Given the description of an element on the screen output the (x, y) to click on. 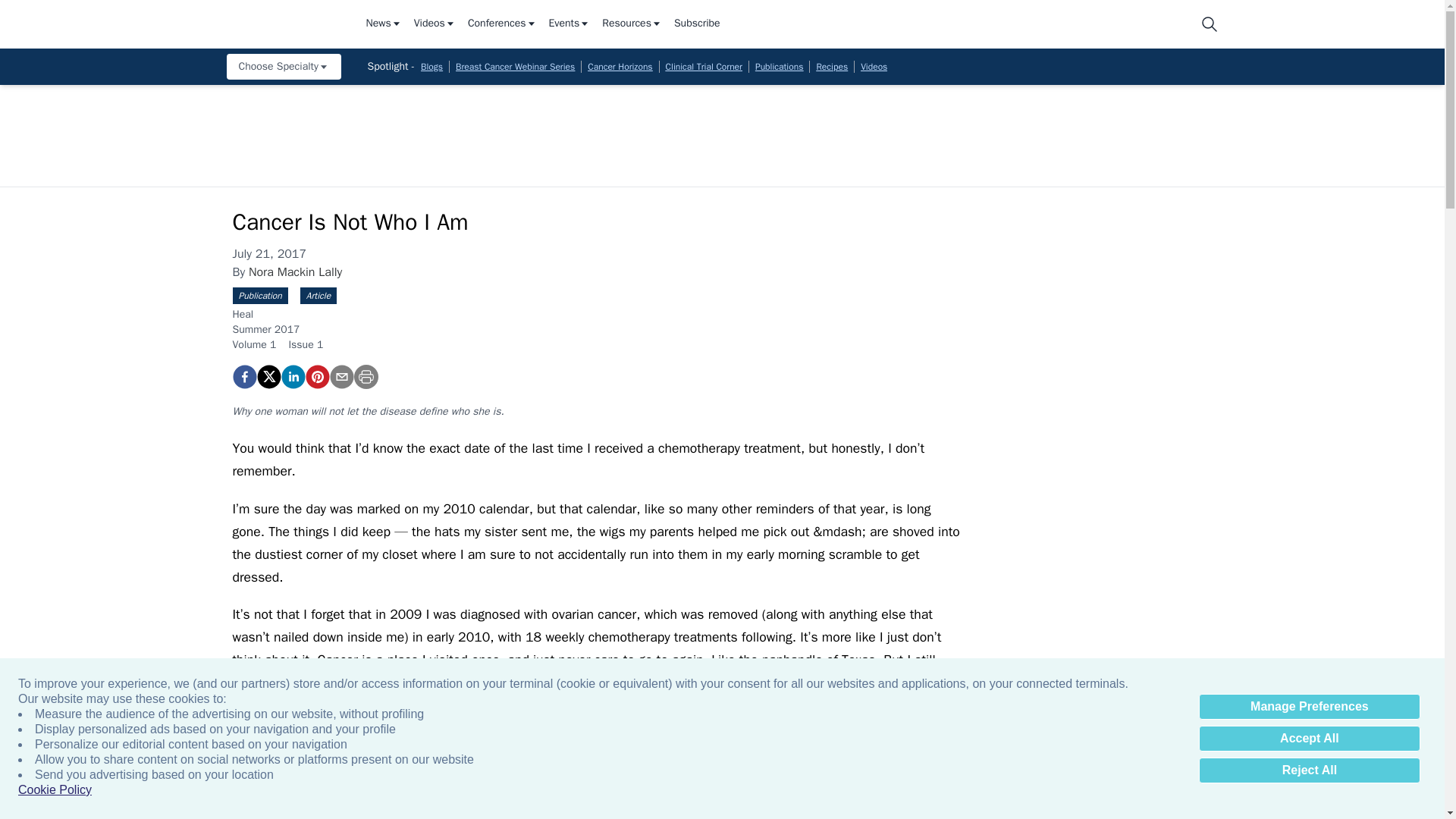
Cancer Is Not Who I Am (316, 376)
Videos (434, 23)
Events (569, 23)
Manage Preferences (1309, 706)
Accept All (1309, 738)
News (383, 23)
Reject All (1309, 769)
Conferences (502, 23)
Cancer Is Not Who I Am (243, 376)
Cookie Policy (54, 789)
